Given the description of an element on the screen output the (x, y) to click on. 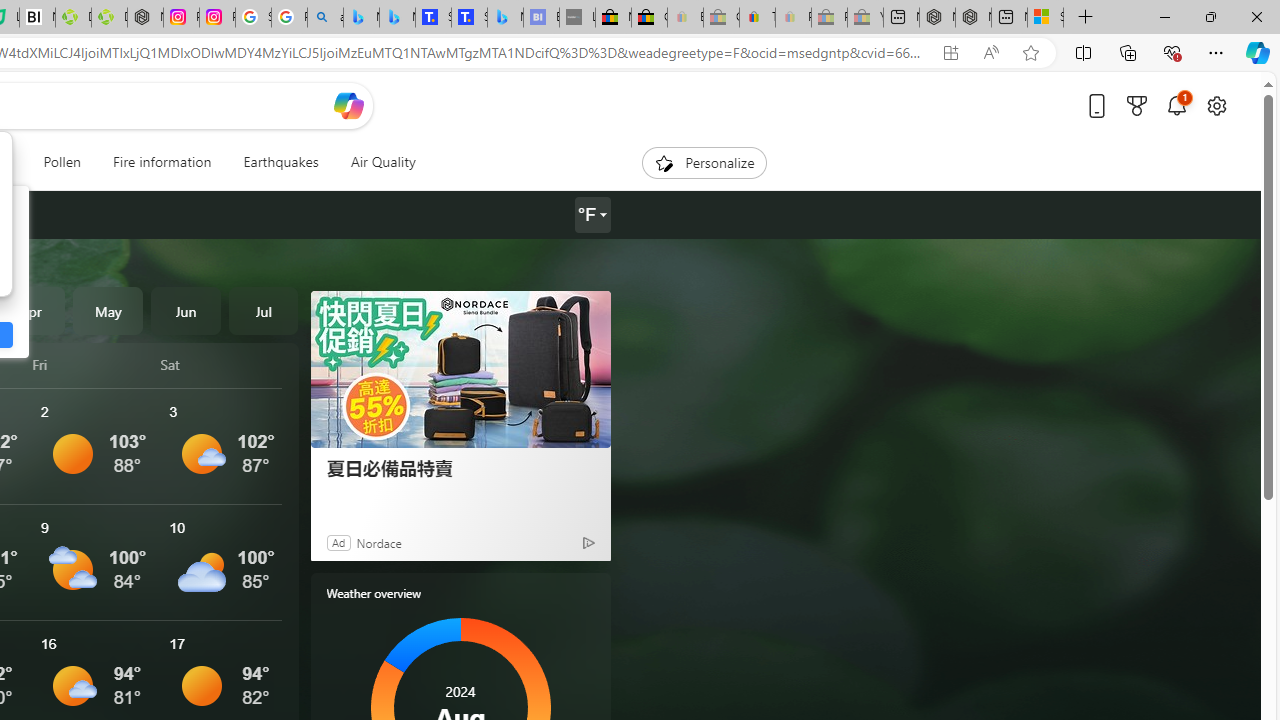
Sat (221, 363)
Jun (186, 310)
May (107, 310)
Nordace - Nordace Edin Collection (145, 17)
Microsoft Bing Travel - Flights from Hong Kong to Bangkok (361, 17)
Microsoft Bing Travel - Shangri-La Hotel Bangkok (505, 17)
Threats and offensive language policy | eBay (756, 17)
